Given the description of an element on the screen output the (x, y) to click on. 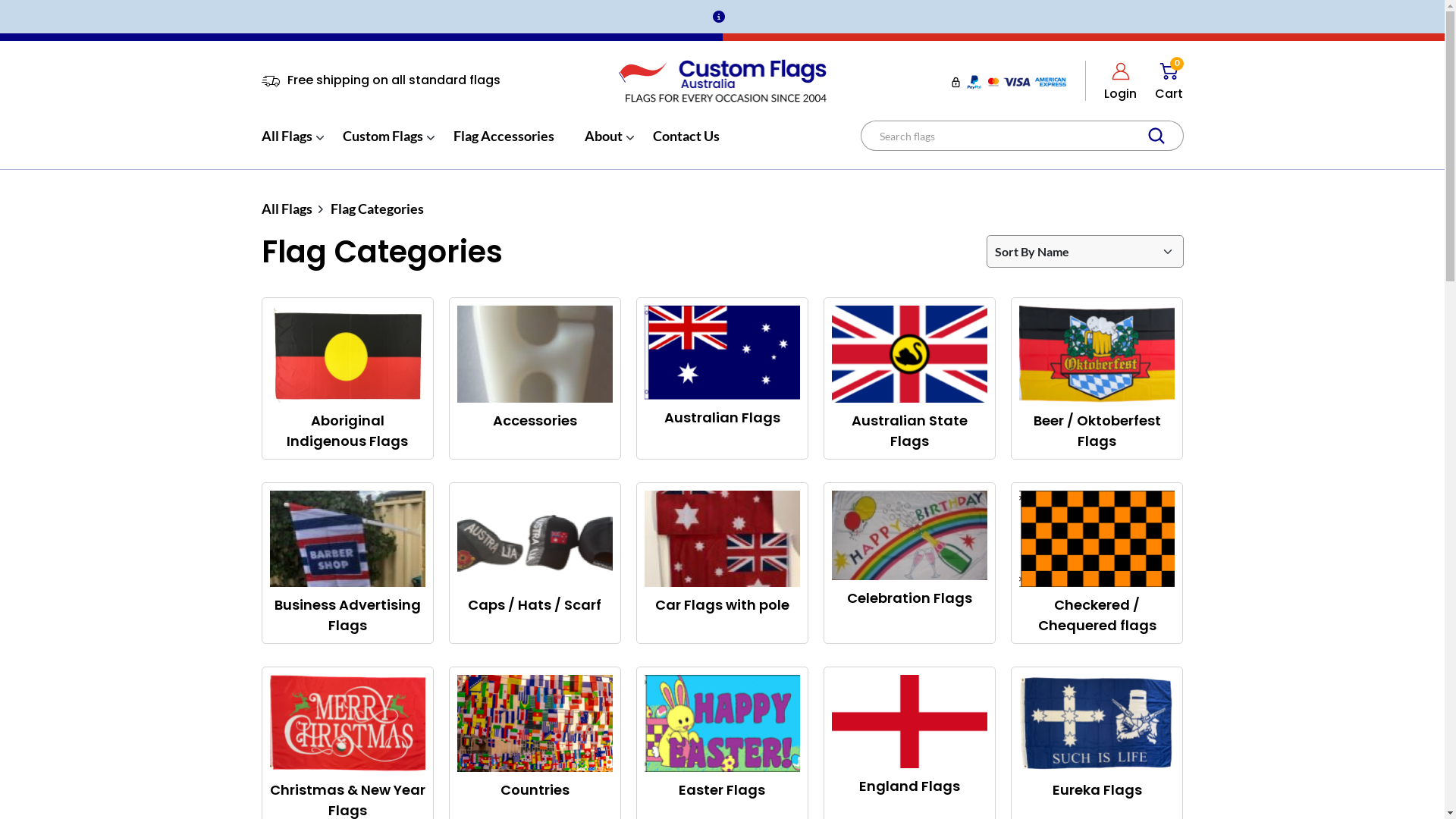
All Flags Element type: text (285, 208)
All Flags Element type: text (285, 144)
Contact Us Element type: text (685, 144)
Custom Flags Element type: text (382, 144)
About Element type: text (602, 144)
Login Element type: text (1120, 80)
Celebration Flags Element type: text (909, 563)
Flag Accessories Element type: text (503, 144)
Aboriginal Indigenous Flags Element type: text (346, 378)
0
Cart Element type: text (1168, 80)
Caps / Hats / Scarf Element type: text (534, 563)
Accessories Element type: text (534, 378)
Car Flags with pole Element type: text (722, 563)
Beer / Oktoberfest Flags Element type: text (1096, 378)
Australian State Flags Element type: text (909, 378)
Checkered / Chequered flags Element type: text (1096, 563)
Business Advertising Flags Element type: text (346, 563)
Australian Flags Element type: text (722, 378)
